Given the description of an element on the screen output the (x, y) to click on. 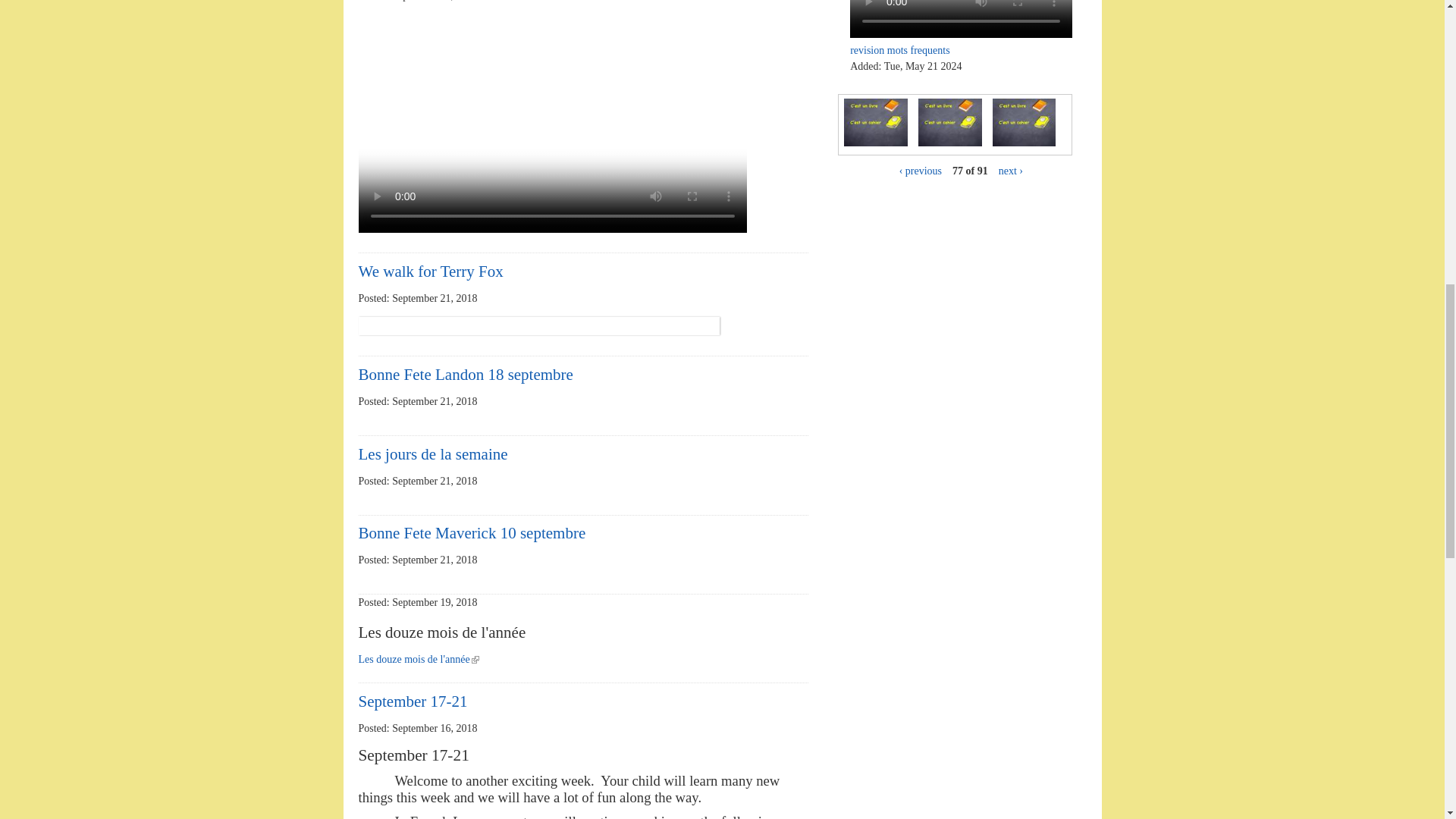
Bonne Fete Landon 18 septembre (465, 374)
September 17-21 (412, 701)
Les jours de la semaine (432, 453)
We walk for Terry Fox (430, 271)
Bonne Fete Maverick 10 septembre (471, 533)
